Given the description of an element on the screen output the (x, y) to click on. 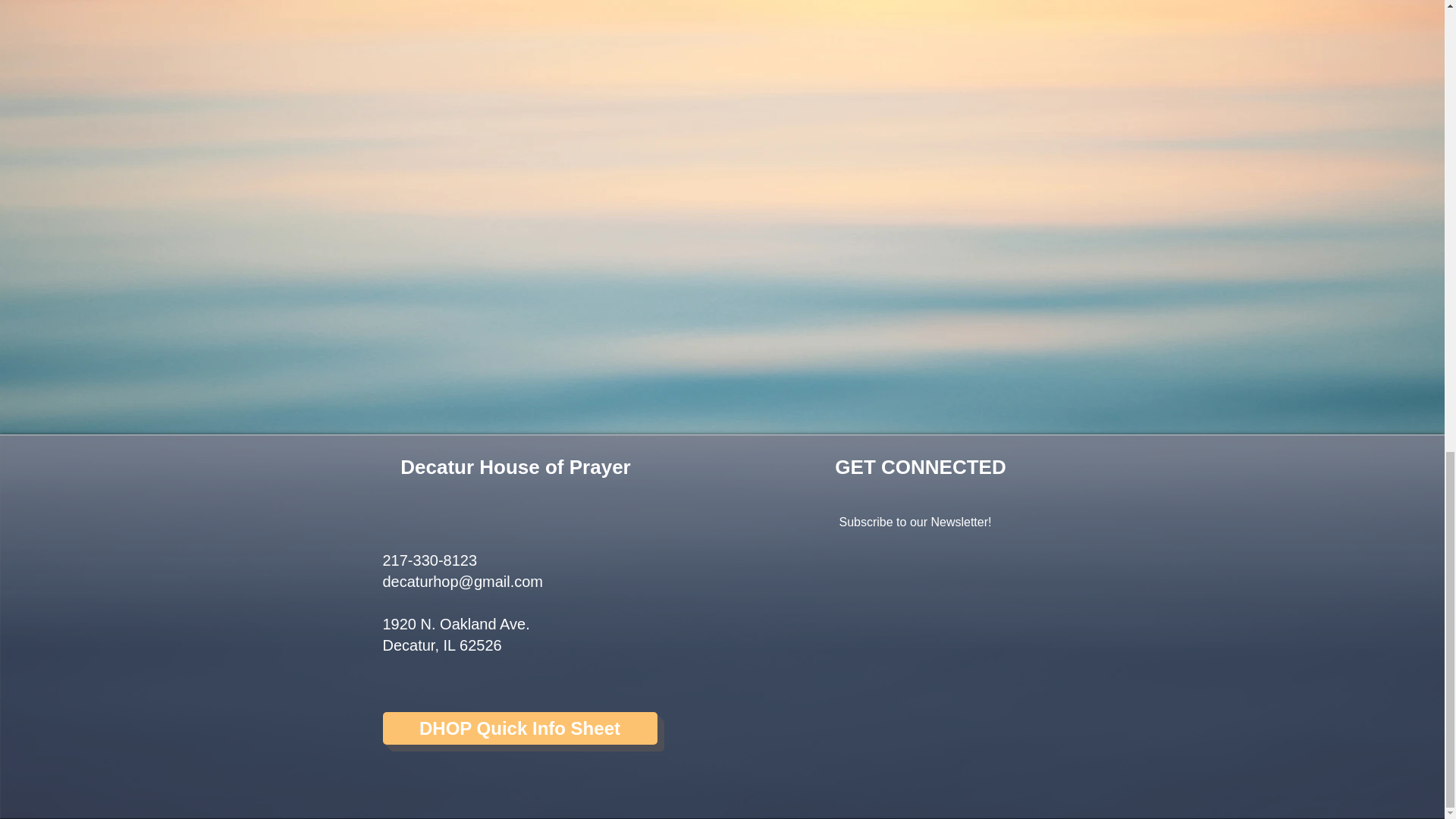
DHOP Quick Info Sheet (518, 727)
